Given the description of an element on the screen output the (x, y) to click on. 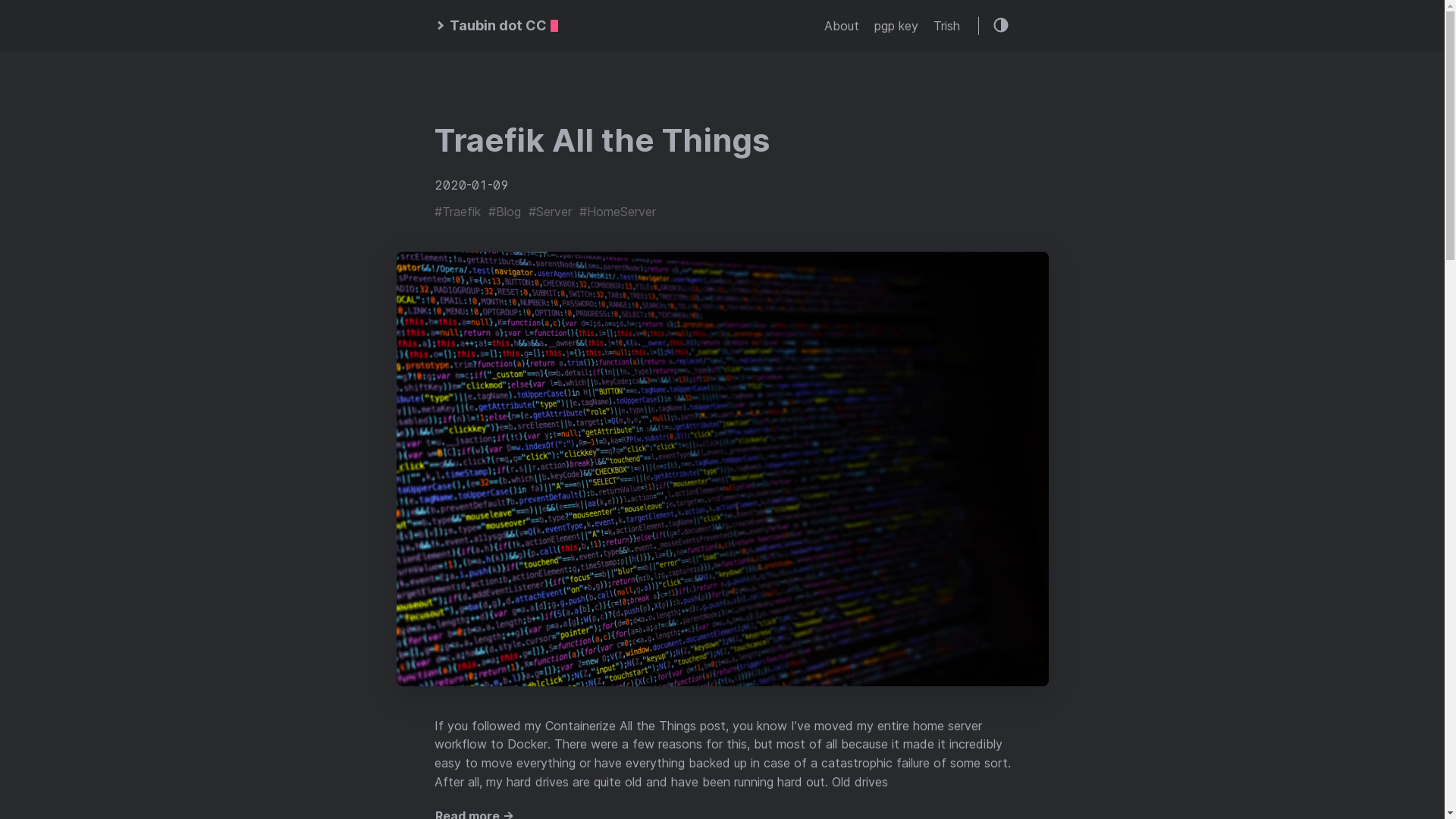
Taubin dot CC Element type: text (495, 25)
Traefik All the Things Element type: text (600, 139)
#Traefik Element type: text (456, 211)
pgp key Element type: text (895, 25)
#Server Element type: text (549, 211)
Trish Element type: text (945, 25)
About Element type: text (840, 25)
#Blog Element type: text (504, 211)
#HomeServer Element type: text (617, 211)
